Given the description of an element on the screen output the (x, y) to click on. 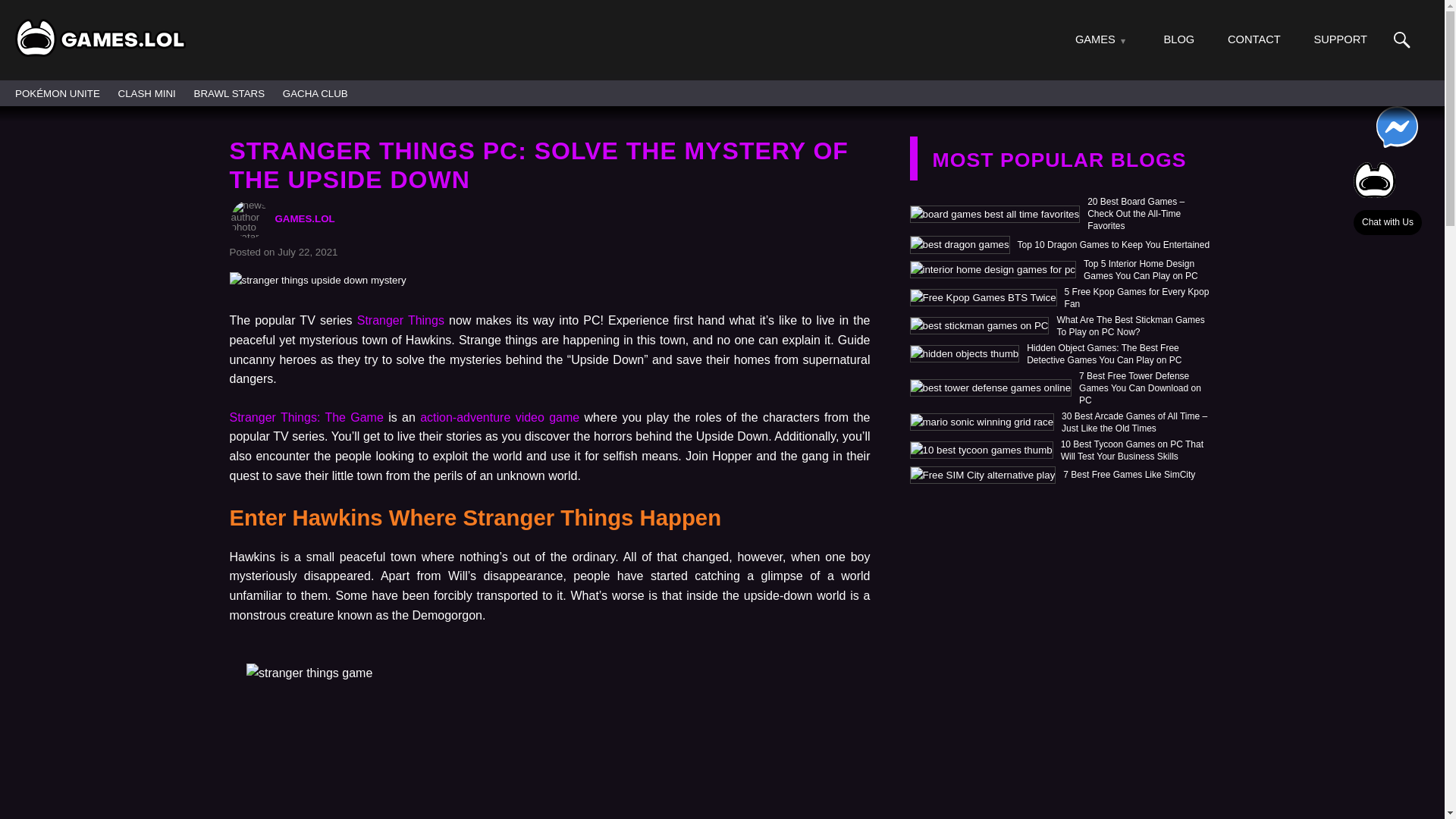
BLOG (1179, 39)
Games.lol free game download website logo (100, 37)
BRAWL STARS (228, 93)
GACHA CLUB (314, 93)
action-adventure video game (499, 417)
Stranger Things (400, 319)
CONTACT (1254, 39)
CLASH MINI (146, 93)
stranger things game (549, 741)
SUPPORT (1340, 39)
Stranger Things: The Game (305, 417)
GAMES (1095, 39)
